Given the description of an element on the screen output the (x, y) to click on. 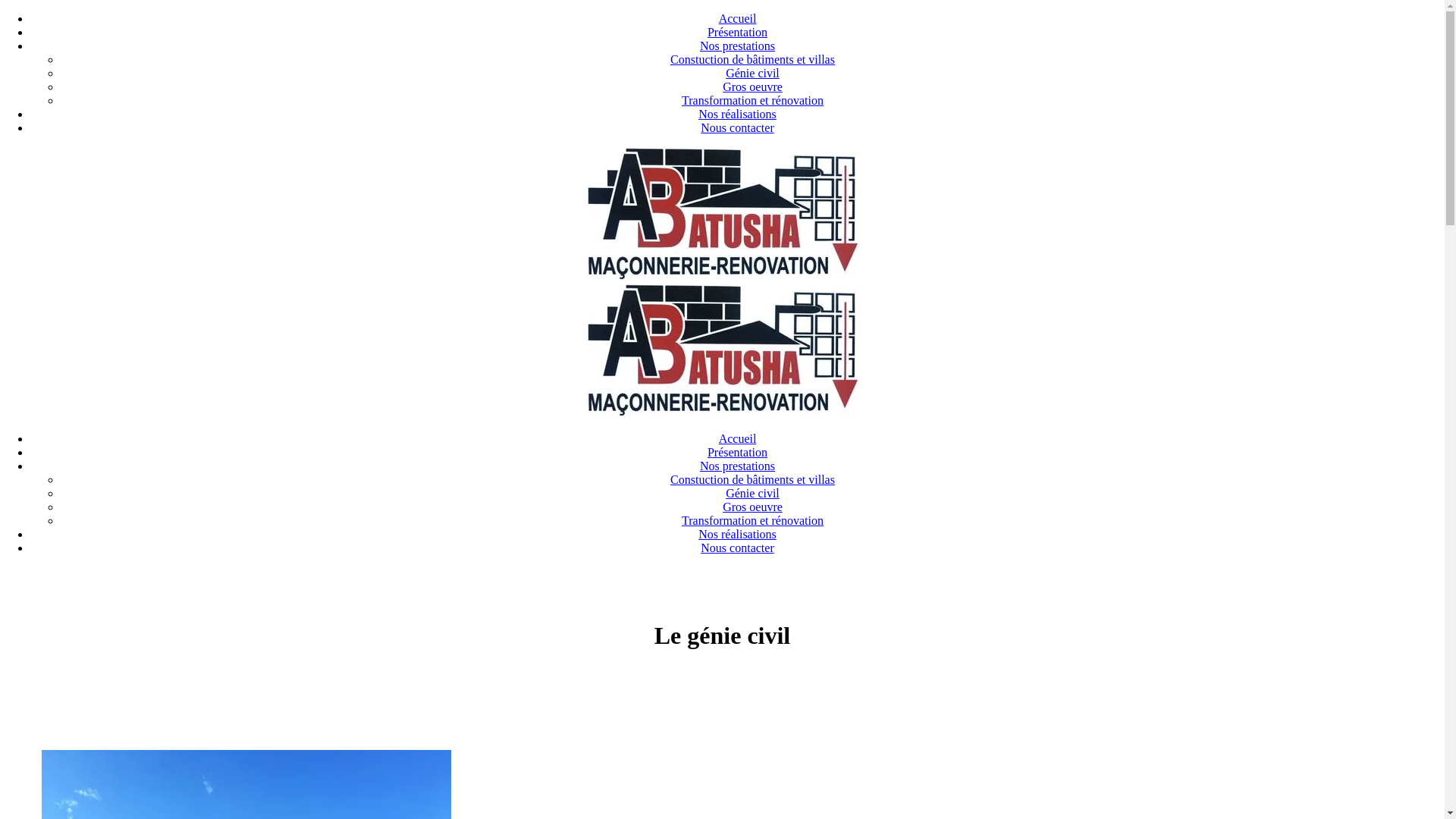
Nous contacter Element type: text (736, 547)
Accueil Element type: text (737, 438)
Gros oeuvre Element type: text (752, 506)
Gros oeuvre Element type: text (752, 86)
Nos prestations Element type: text (737, 465)
Nous contacter Element type: text (736, 127)
Nos prestations Element type: text (737, 45)
Accueil Element type: text (737, 18)
